Given the description of an element on the screen output the (x, y) to click on. 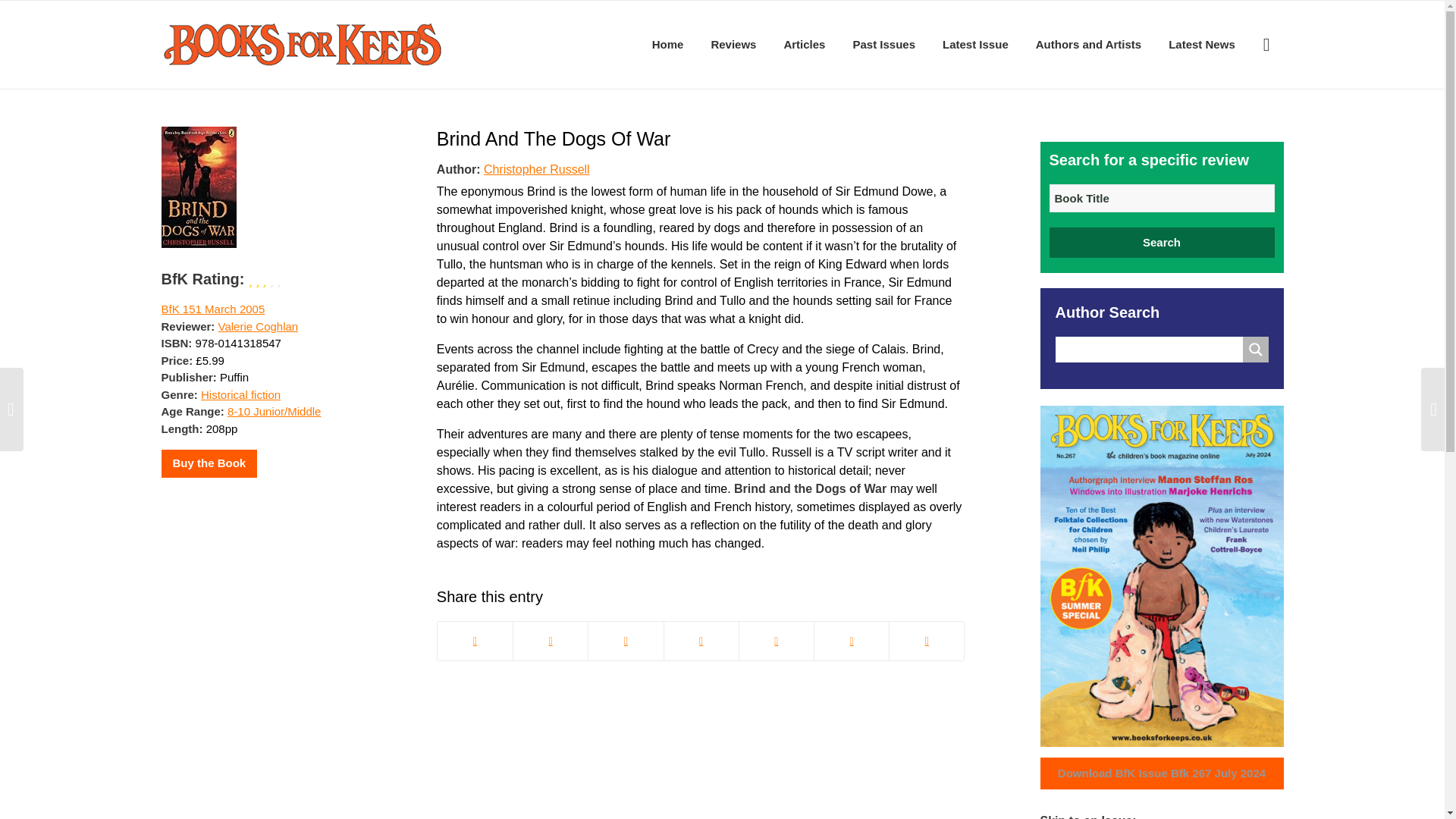
Latest Issue (975, 44)
Authors and Artists (1088, 44)
Historical fiction (240, 394)
Download BfK Issue Bfk 267 July 2024 (1162, 773)
Valerie Coghlan (258, 326)
Search (1162, 242)
Christopher Russell (536, 168)
BfK 151 March 2005 (212, 308)
Search (1162, 242)
Brind And The Dogs Of War (552, 138)
Past Issues (883, 44)
Latest News (1201, 44)
Buy the Book (208, 463)
Permanent Link: Brind and the Dogs of War (552, 138)
